Given the description of an element on the screen output the (x, y) to click on. 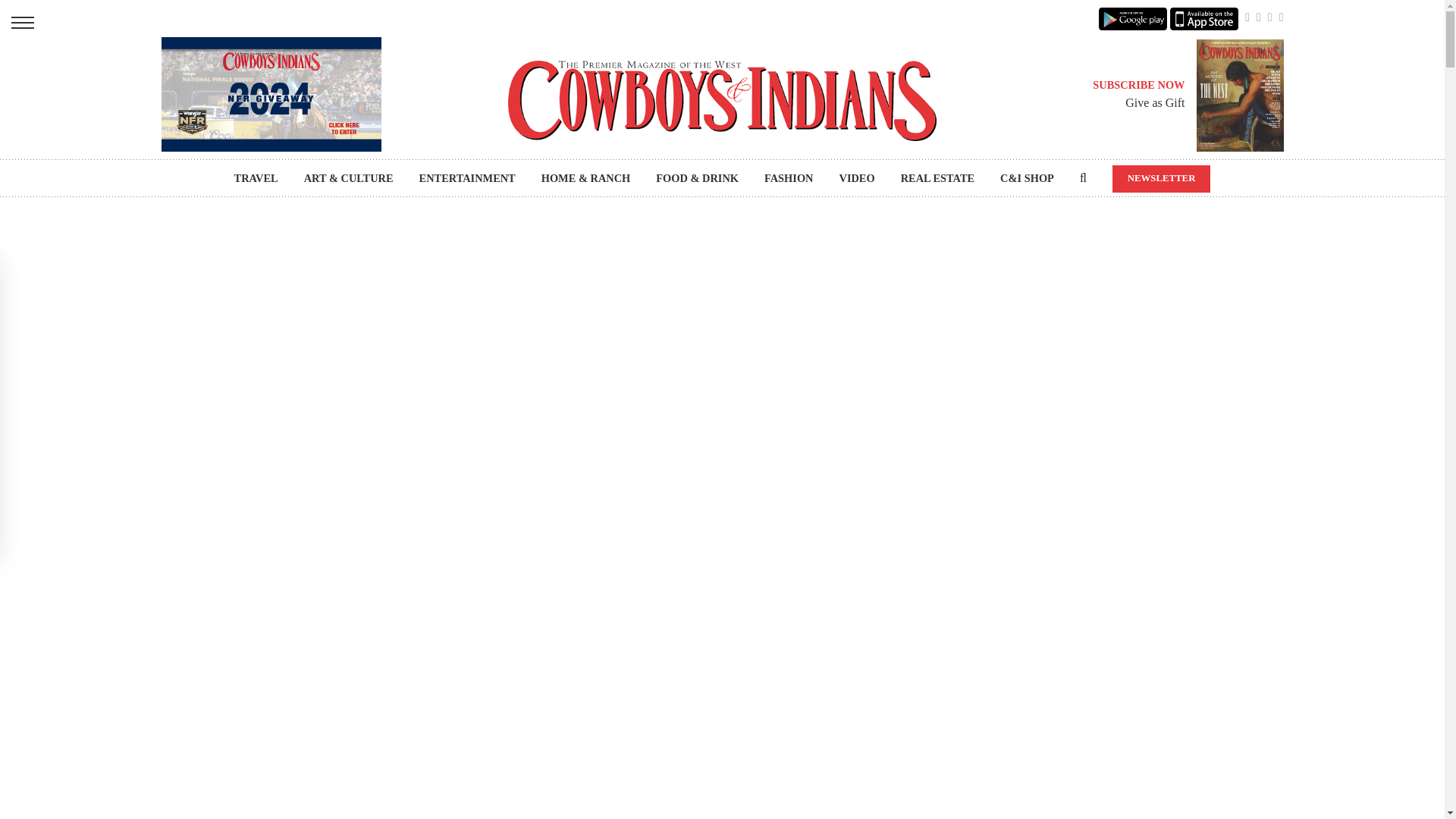
Cowboys and Indians Magazine (722, 100)
